Given the description of an element on the screen output the (x, y) to click on. 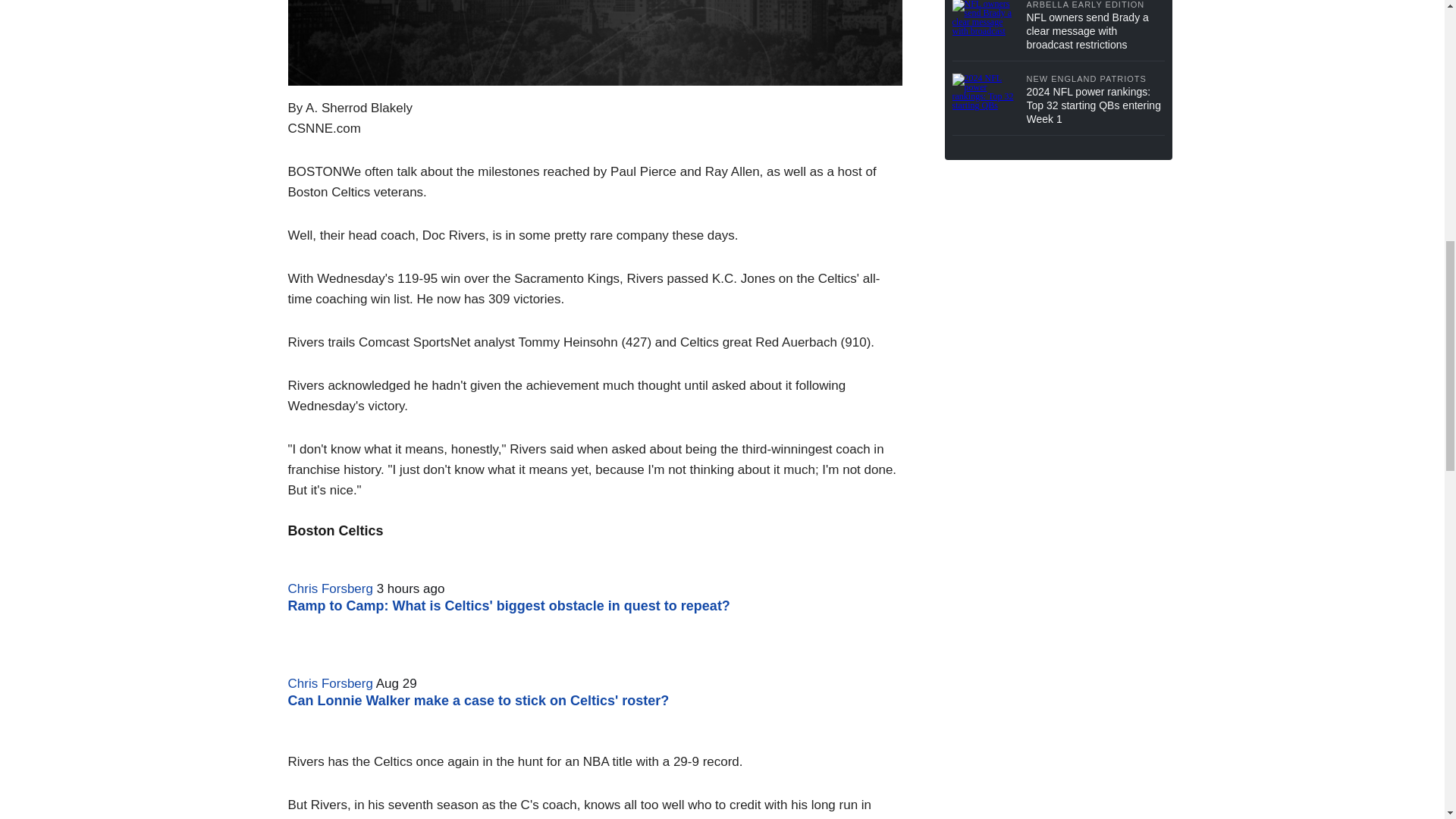
ARBELLA EARLY EDITION (1095, 5)
Chris Forsberg (330, 588)
Chris Forsberg (330, 683)
Can Lonnie Walker make a case to stick on Celtics' roster? (478, 700)
